Given the description of an element on the screen output the (x, y) to click on. 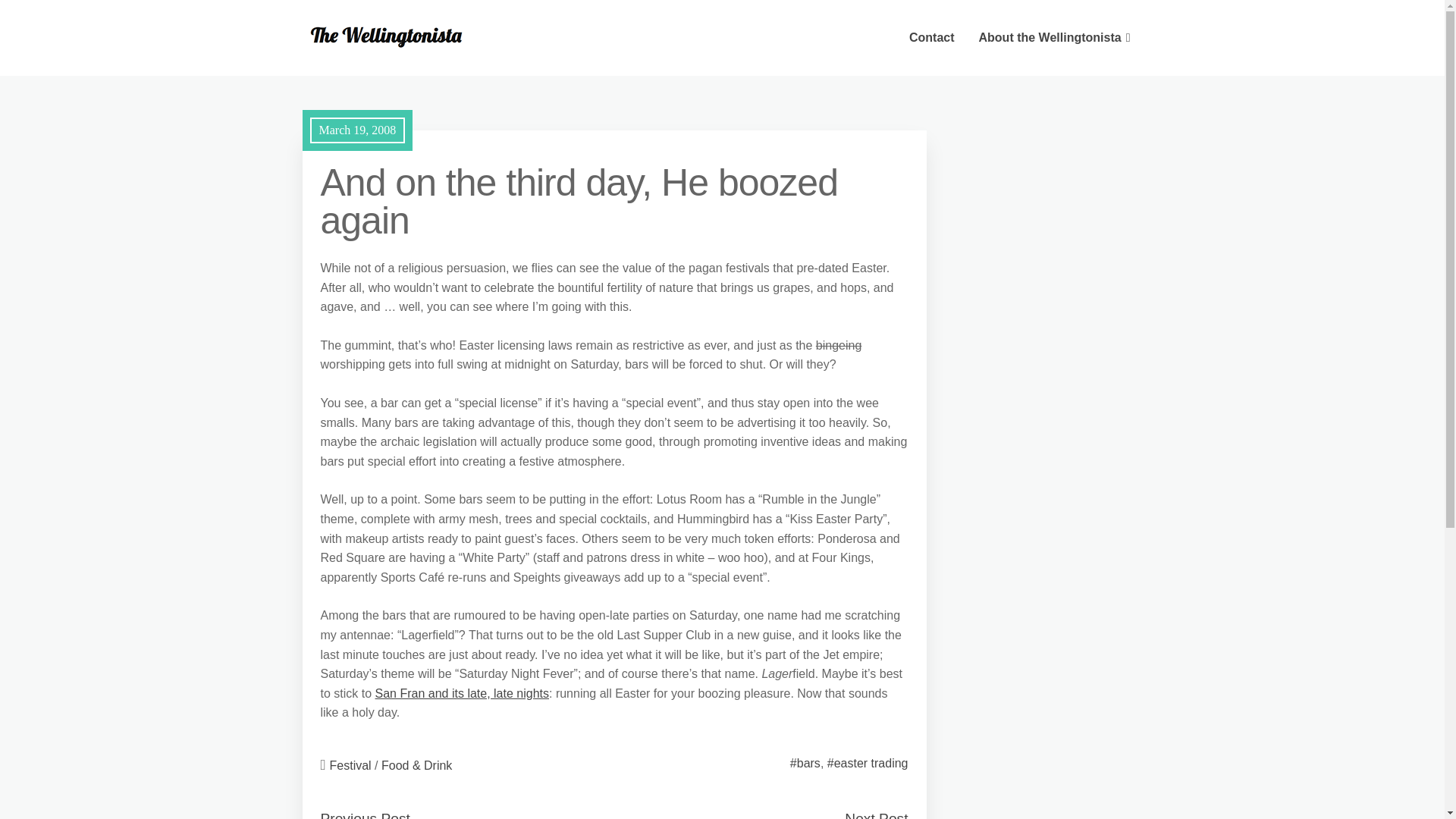
Next Post (875, 814)
San Fran and its late, late nights (461, 693)
Festival (350, 765)
Contact (931, 37)
About the Wellingtonista (1054, 37)
Previous Post (364, 814)
